Given the description of an element on the screen output the (x, y) to click on. 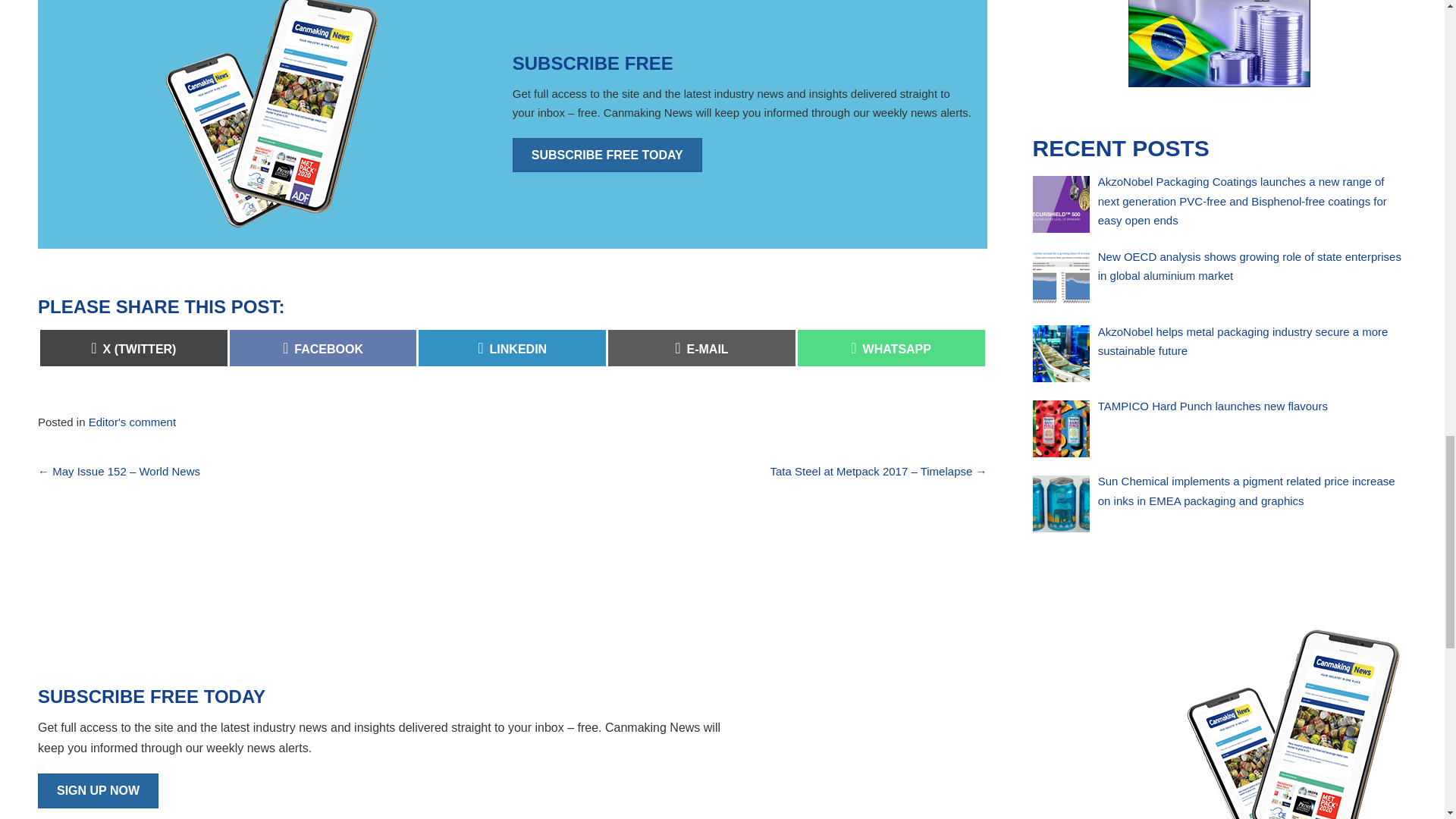
Canmaking News Mobile No Shadow 300 (1292, 721)
Canmaking News Mobile No Shadow 300 (512, 348)
SUBSCRIBE FREE (323, 348)
SUBSCRIBE FREE TODAY (271, 116)
